Given the description of an element on the screen output the (x, y) to click on. 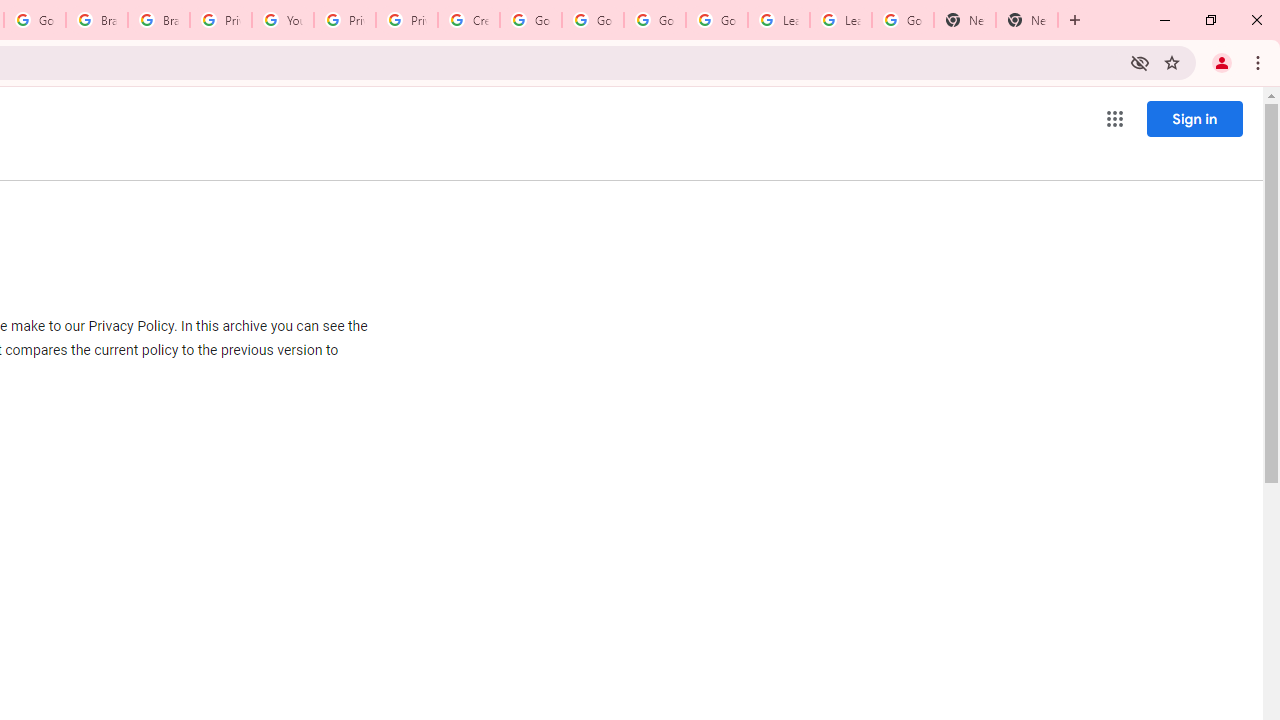
Brand Resource Center (96, 20)
Brand Resource Center (158, 20)
New Tab (1026, 20)
New Tab (964, 20)
Create your Google Account (468, 20)
Google Account Help (530, 20)
Google Account (902, 20)
